Given the description of an element on the screen output the (x, y) to click on. 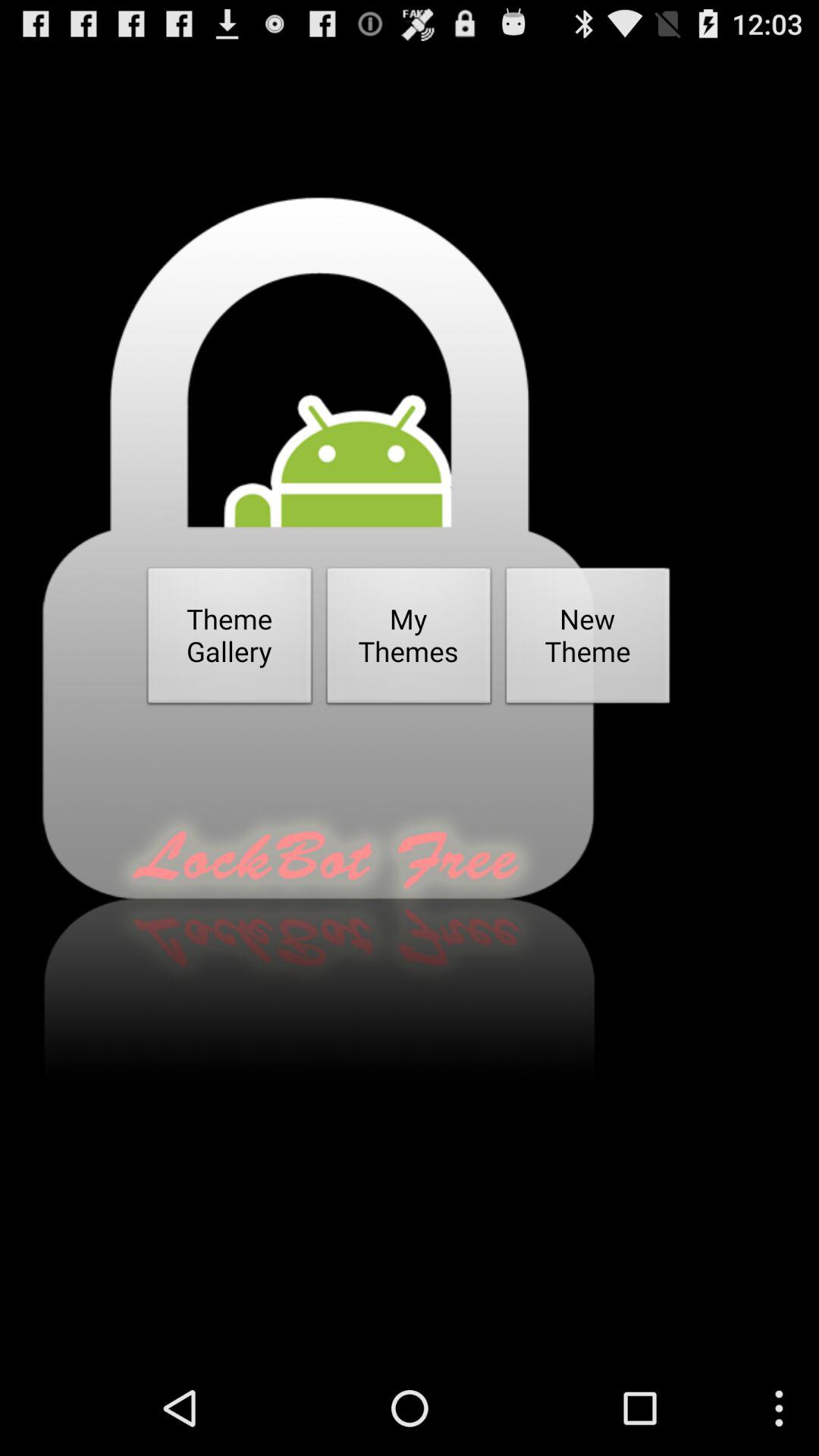
select the icon on the right (587, 639)
